Given the description of an element on the screen output the (x, y) to click on. 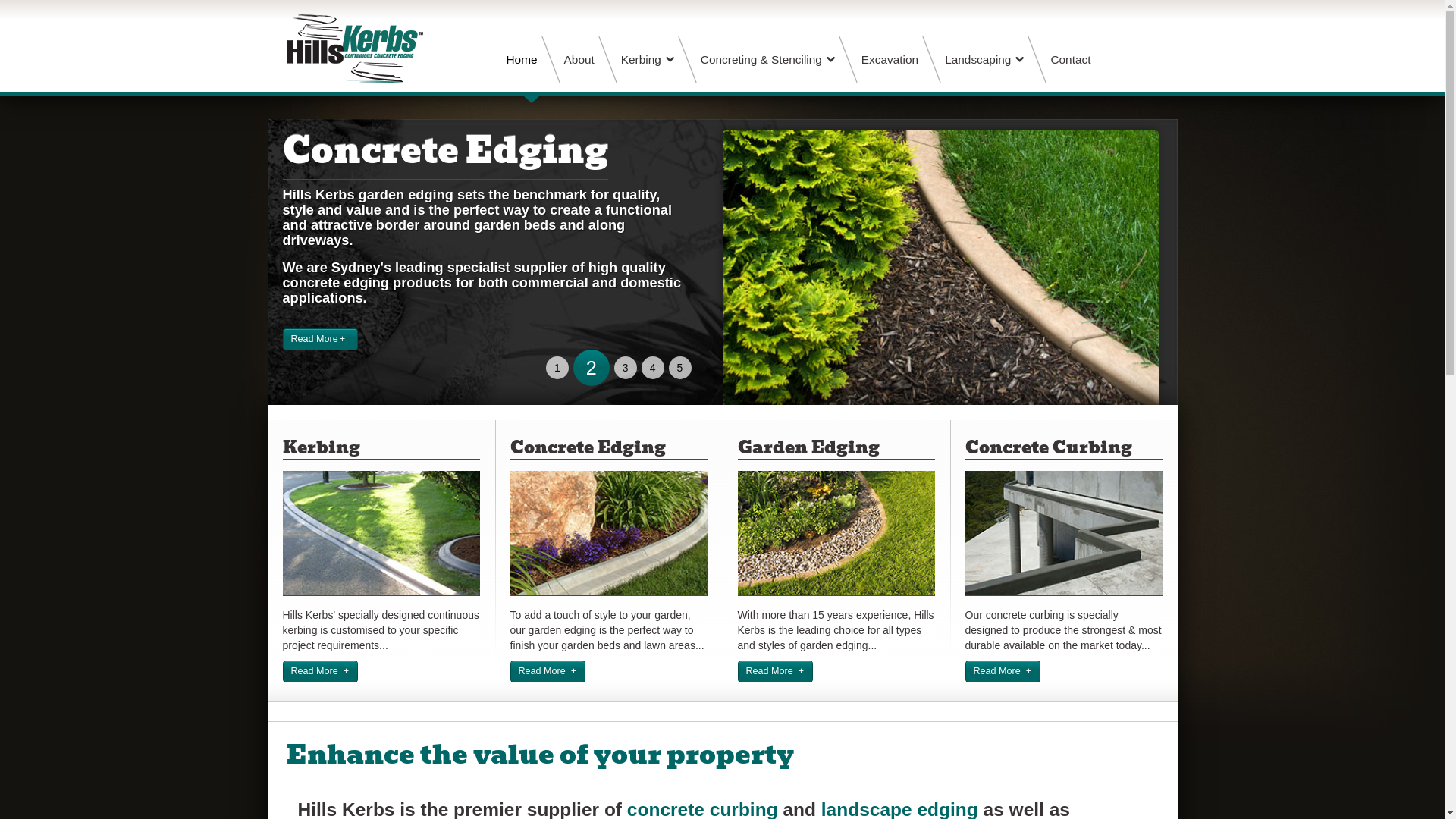
Home Element type: text (525, 58)
Concrete Curbing Element type: text (1047, 447)
About Element type: text (582, 58)
Read More Element type: text (546, 671)
Contact Element type: text (1073, 58)
Garden Edging Element type: text (807, 447)
Concrete Edging Element type: text (444, 150)
Concreting & Stenciling Element type: text (767, 58)
Concrete Edging Element type: text (587, 447)
Kerbing Element type: text (647, 58)
Read More Element type: text (319, 671)
Kerbing Element type: text (320, 447)
Read More Element type: text (1001, 671)
Excavation Element type: text (893, 58)
Read More Element type: text (774, 671)
Read More Element type: text (319, 339)
Landscaping Element type: text (984, 58)
